Given the description of an element on the screen output the (x, y) to click on. 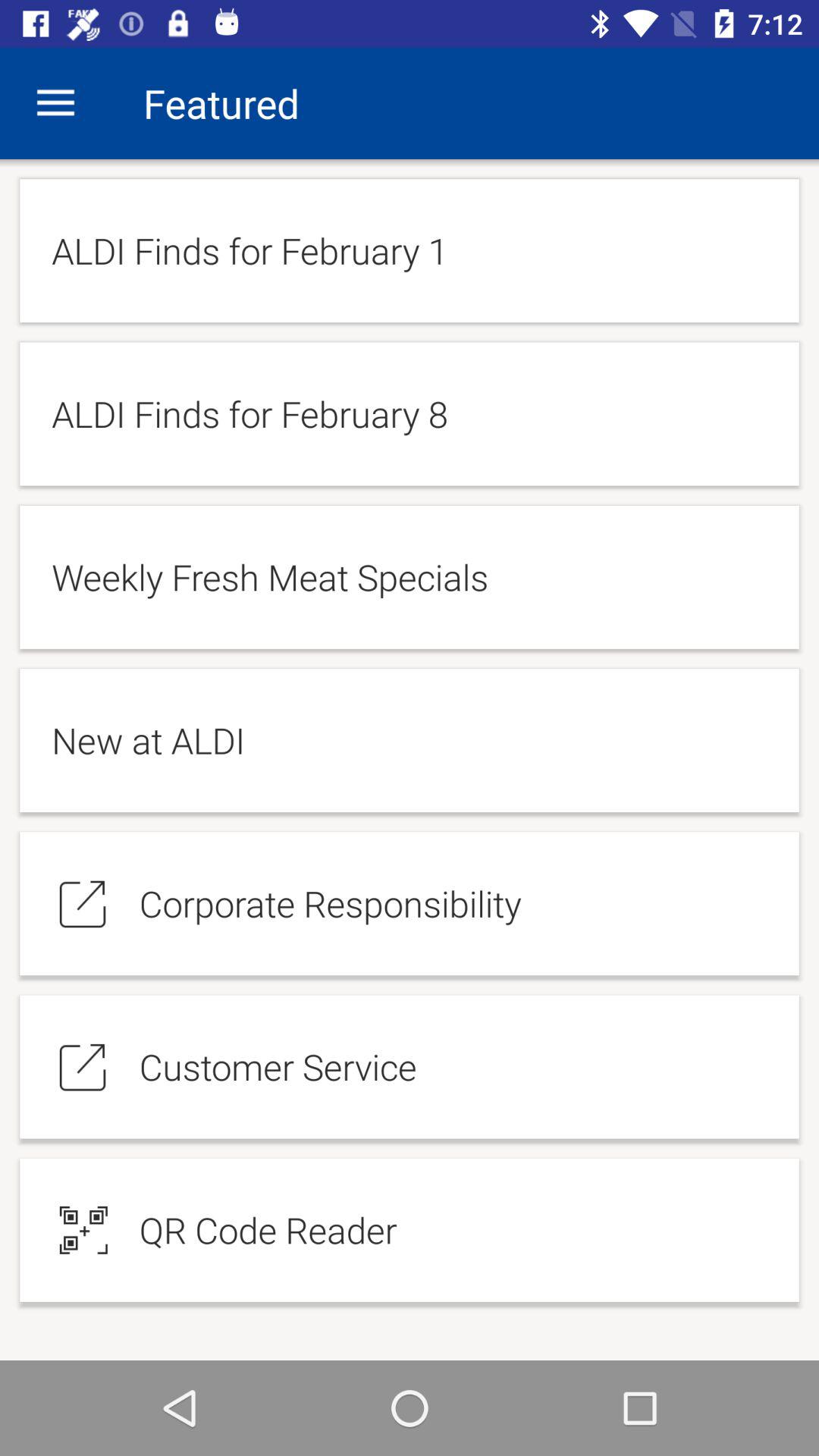
press the app next to the featured (55, 103)
